Given the description of an element on the screen output the (x, y) to click on. 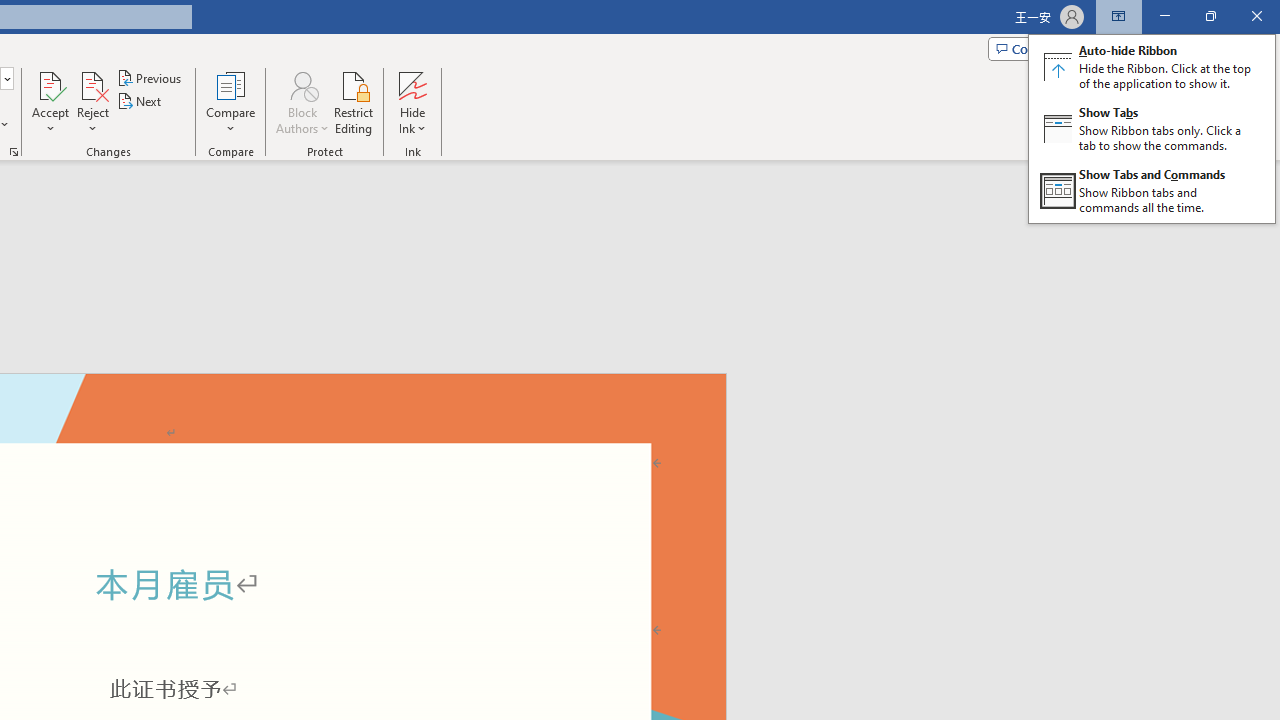
Accept and Move to Next (50, 84)
Accept (50, 102)
Restrict Editing (353, 102)
Next (140, 101)
